Given the description of an element on the screen output the (x, y) to click on. 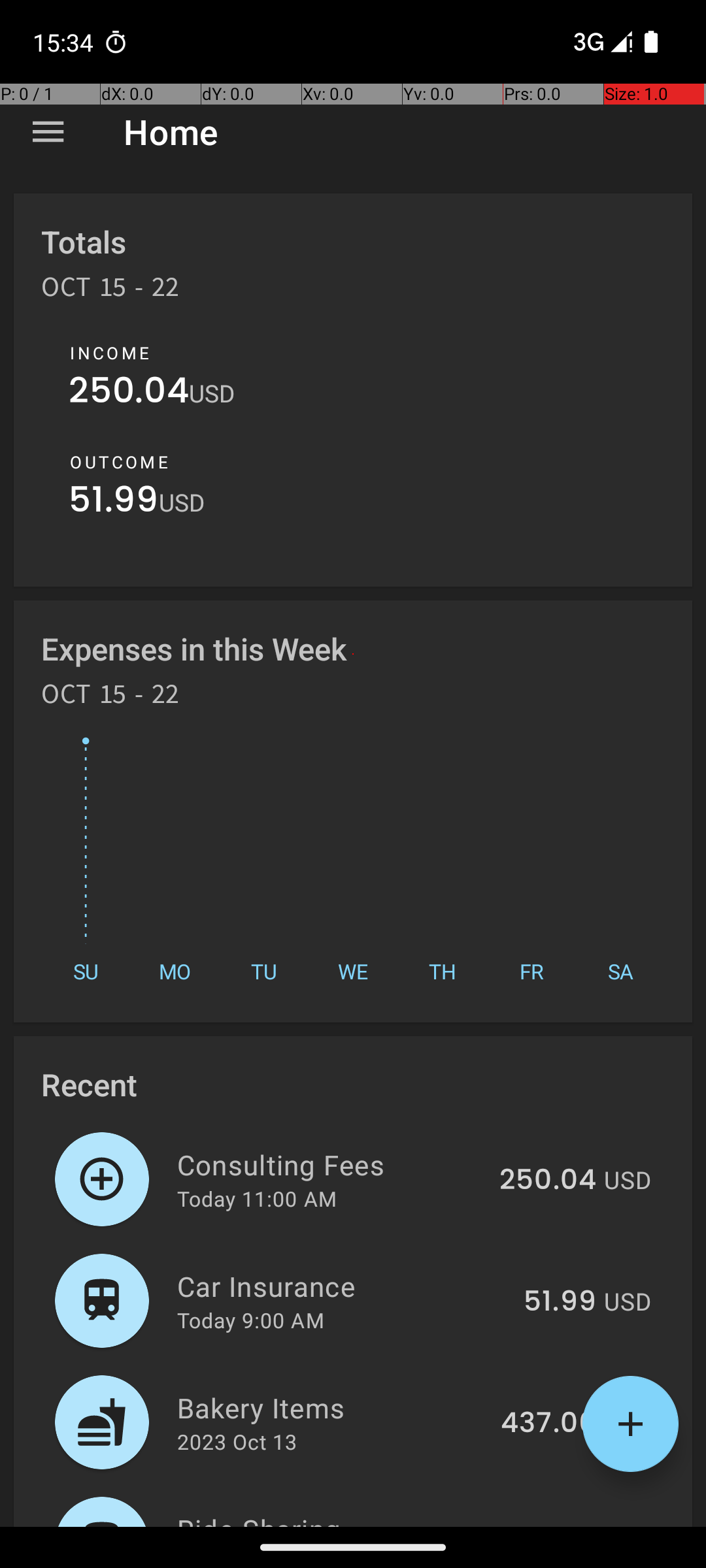
250.04 Element type: android.widget.TextView (128, 393)
51.99 Element type: android.widget.TextView (113, 502)
Today 11:00 AM Element type: android.widget.TextView (256, 1198)
Car Insurance Element type: android.widget.TextView (342, 1285)
Today 9:00 AM Element type: android.widget.TextView (250, 1320)
Bakery Items Element type: android.widget.TextView (331, 1407)
437.06 Element type: android.widget.TextView (548, 1423)
203.88 Element type: android.widget.TextView (548, 1524)
